Given the description of an element on the screen output the (x, y) to click on. 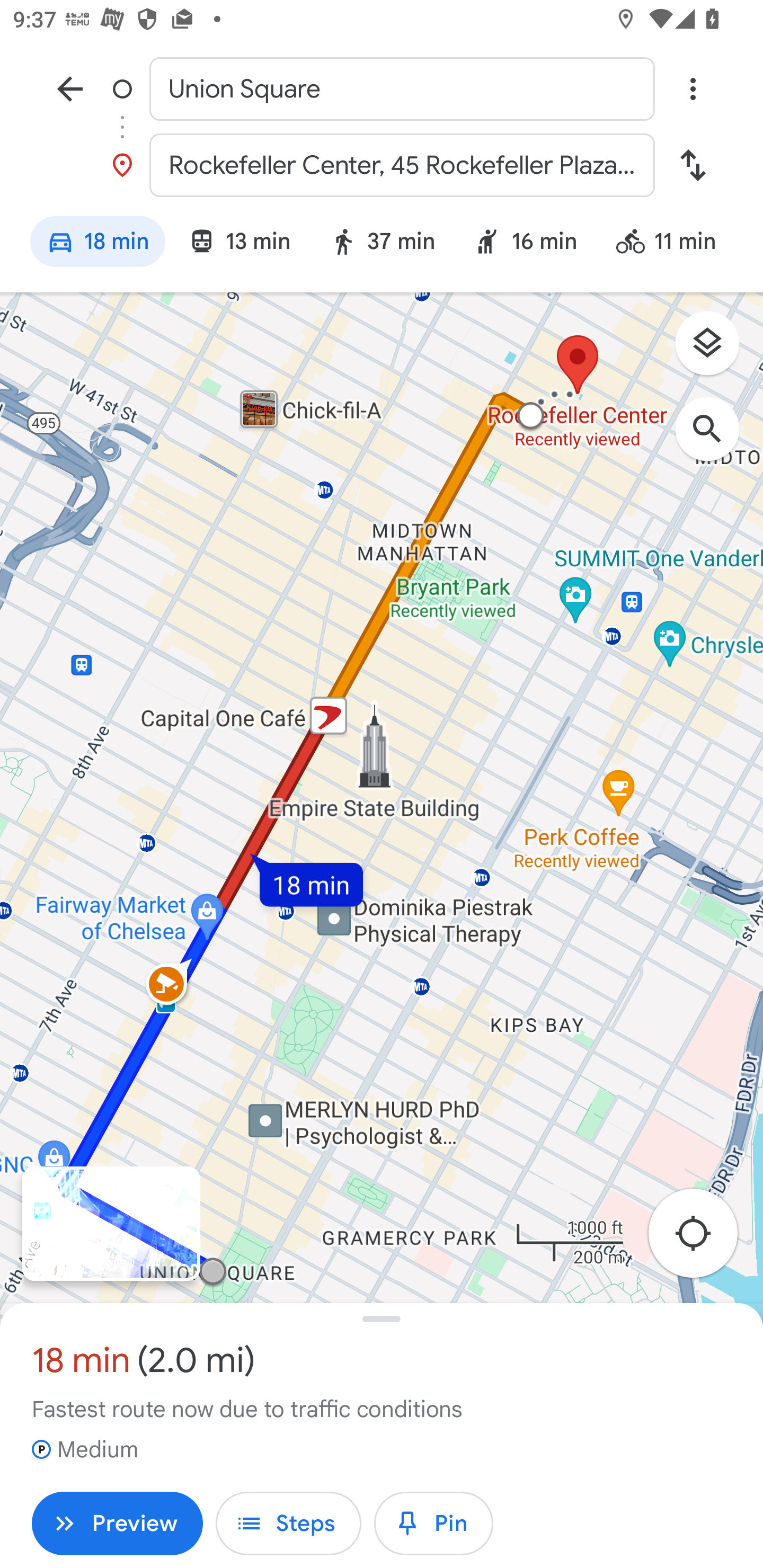
Navigate up (70, 88)
Union Square Start location, Union Square (381, 88)
Overflow menu (692, 88)
Swap start and destination (692, 165)
Transit mode: 13 min 13 min (238, 244)
Walking mode: 37 min 37 min (381, 244)
Ride service: 16 min 16 min (525, 244)
Bicycling mode: 11 min 11 min (674, 244)
Layers (716, 349)
Search along route (716, 438)
Open Immersive View for routes (110, 1223)
Re-center map to your location (702, 1238)
Steps Steps Steps (288, 1522)
Pin trip Pin Pin trip (433, 1522)
